Given the description of an element on the screen output the (x, y) to click on. 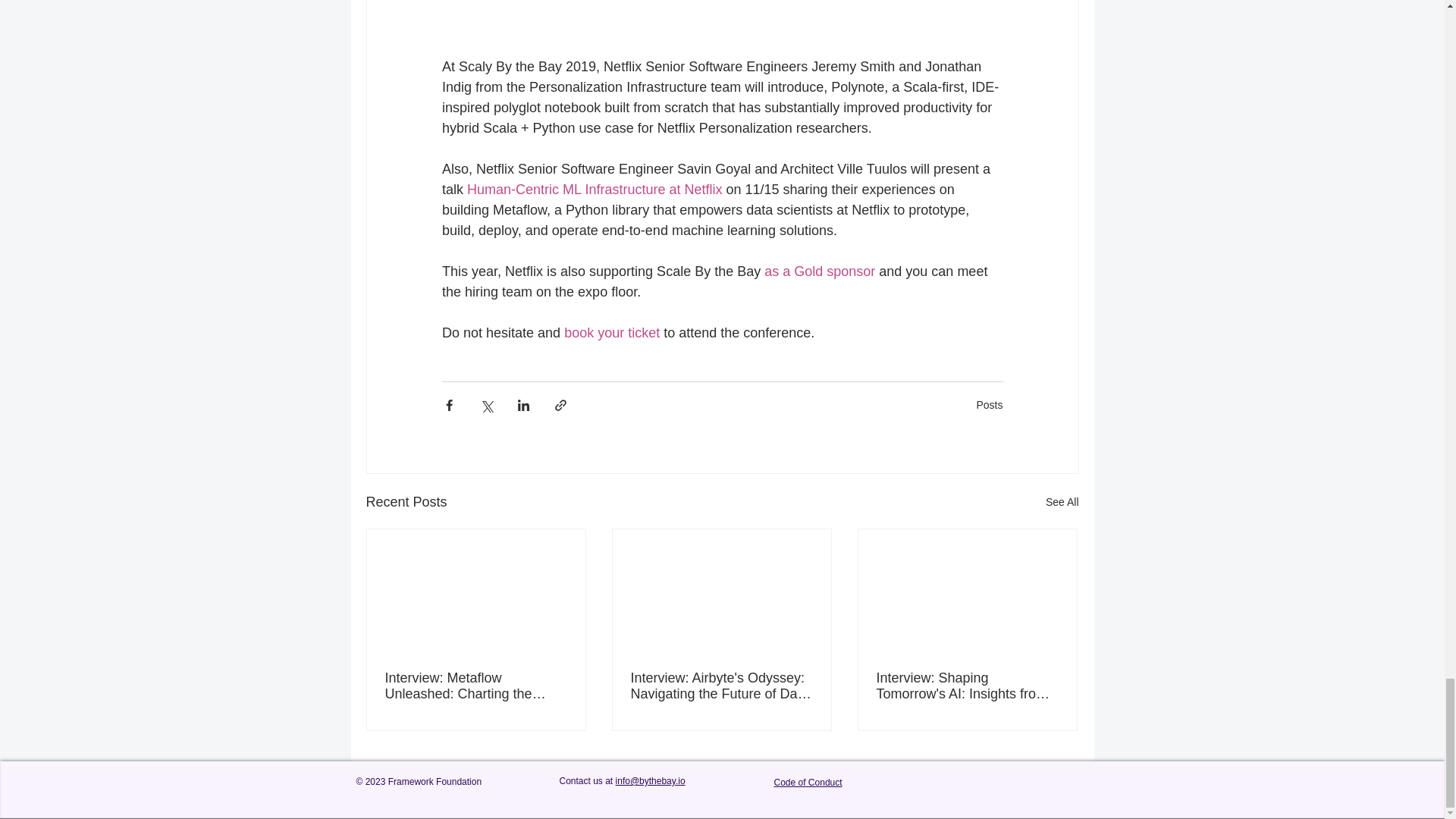
book your ticket (611, 332)
Human-Centric ML Infrastructure at Netflix (594, 189)
as a Gold sponsor (819, 271)
See All (1061, 502)
Posts (989, 404)
